Given the description of an element on the screen output the (x, y) to click on. 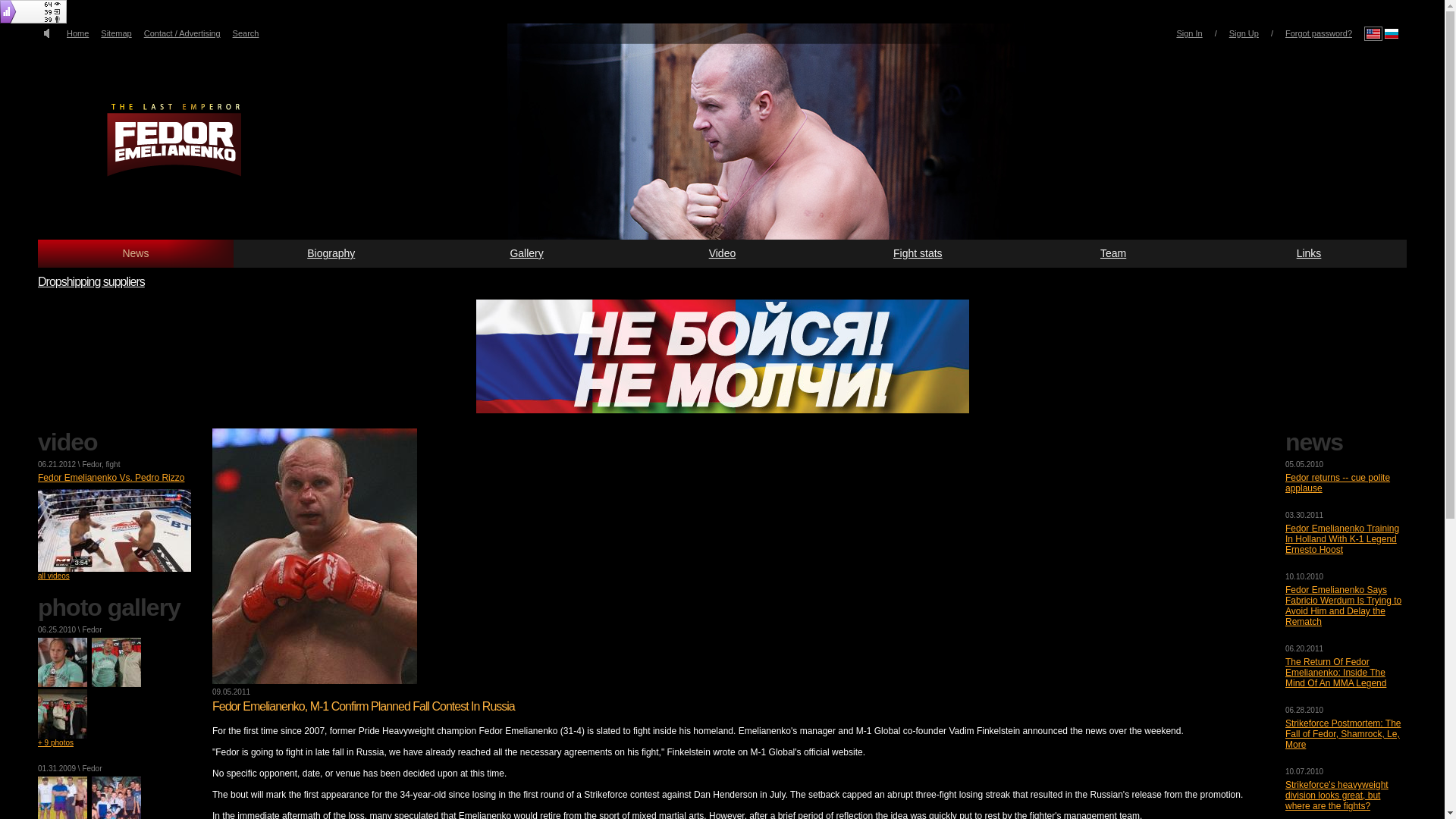
Fedor (91, 464)
Home (77, 32)
Video (722, 253)
Links (1308, 253)
Biography (330, 253)
fight (113, 464)
News (134, 253)
Sign In (1189, 32)
Sign Up (1243, 32)
Fight stats (916, 253)
